Given the description of an element on the screen output the (x, y) to click on. 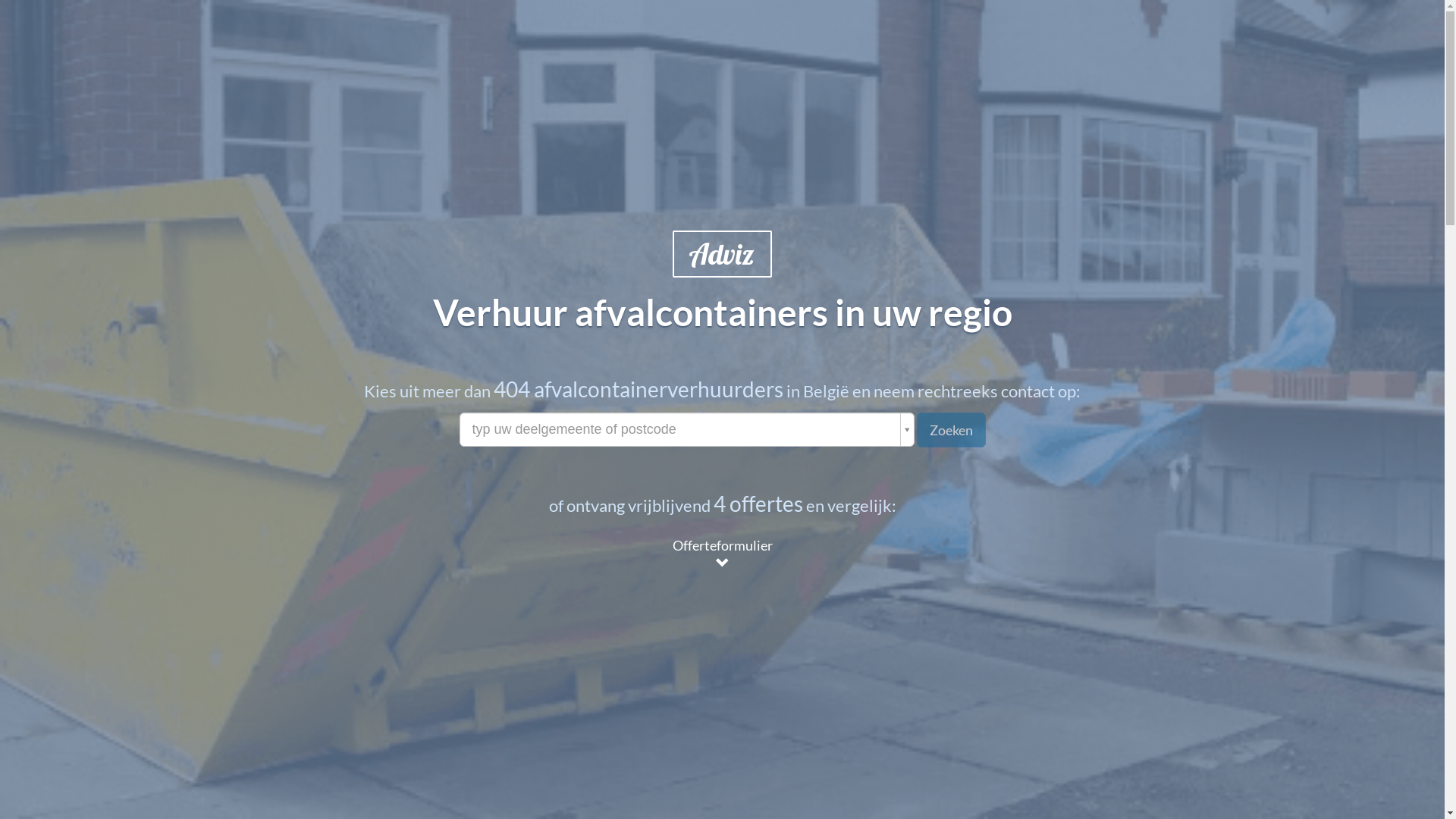
typ uw deelgemeente of postcode Element type: text (686, 429)
Offerteformulier Element type: text (722, 553)
Zoeken Element type: text (950, 429)
